Given the description of an element on the screen output the (x, y) to click on. 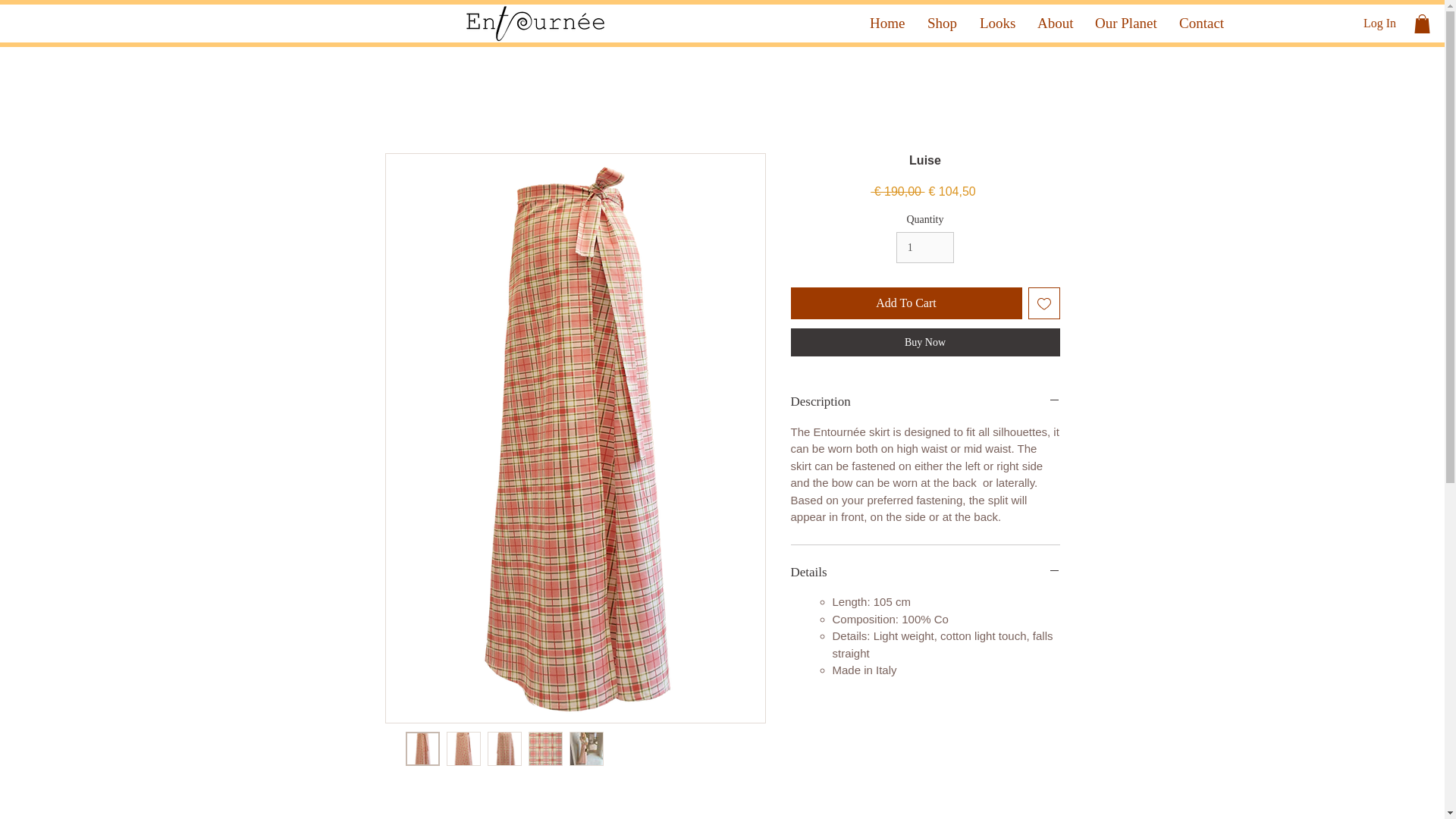
Contact (1200, 23)
Looks (997, 23)
Home (887, 23)
Log In (1379, 23)
Buy Now (924, 342)
Description (924, 402)
Add To Cart (906, 303)
1 (924, 246)
Shop (941, 23)
Details (924, 572)
About (1054, 23)
Our Planet (1125, 23)
